Given the description of an element on the screen output the (x, y) to click on. 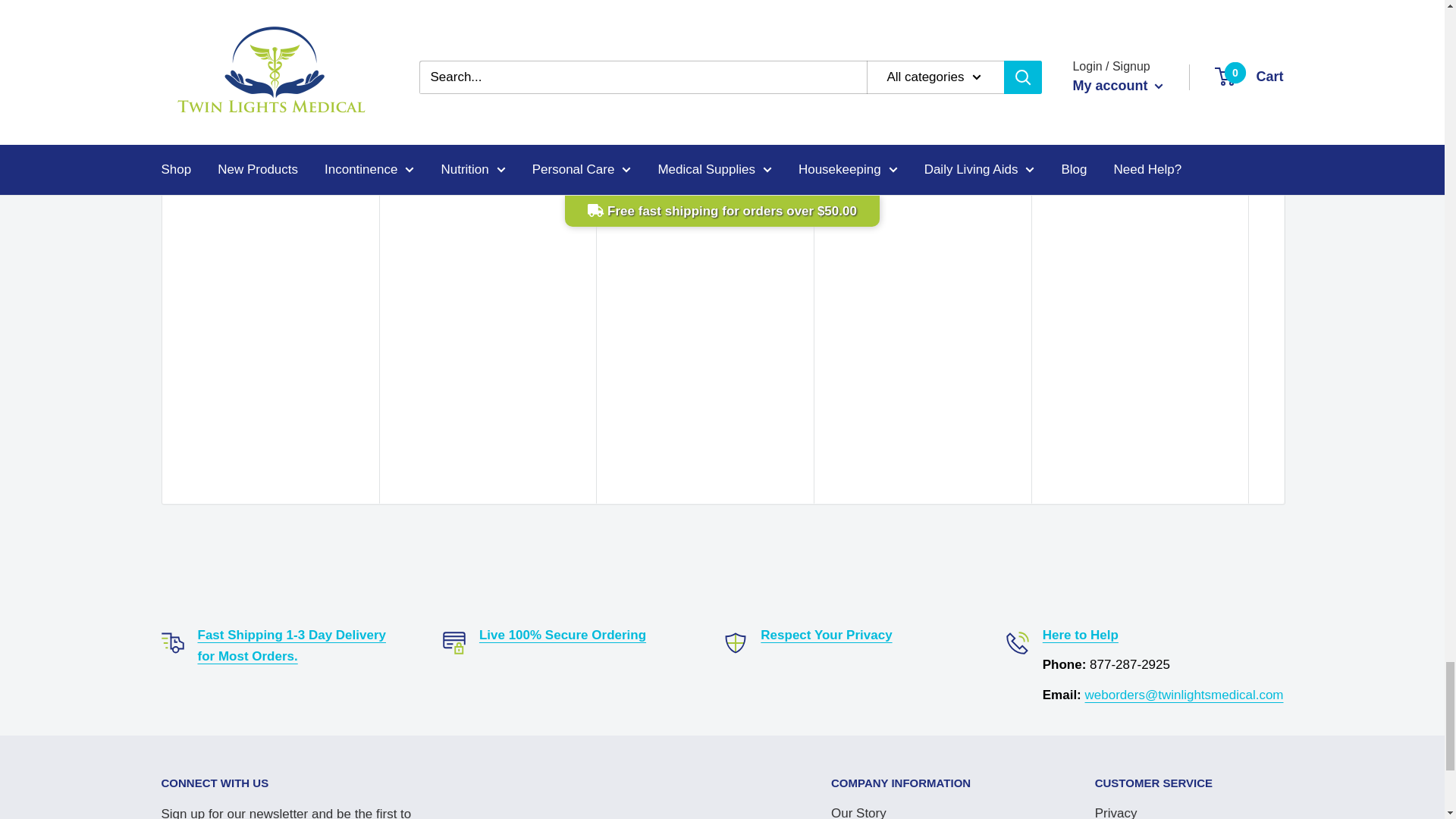
Shipping Policy (290, 645)
Here to Help (1080, 635)
Security (562, 635)
Privacy Policy (825, 635)
